Given the description of an element on the screen output the (x, y) to click on. 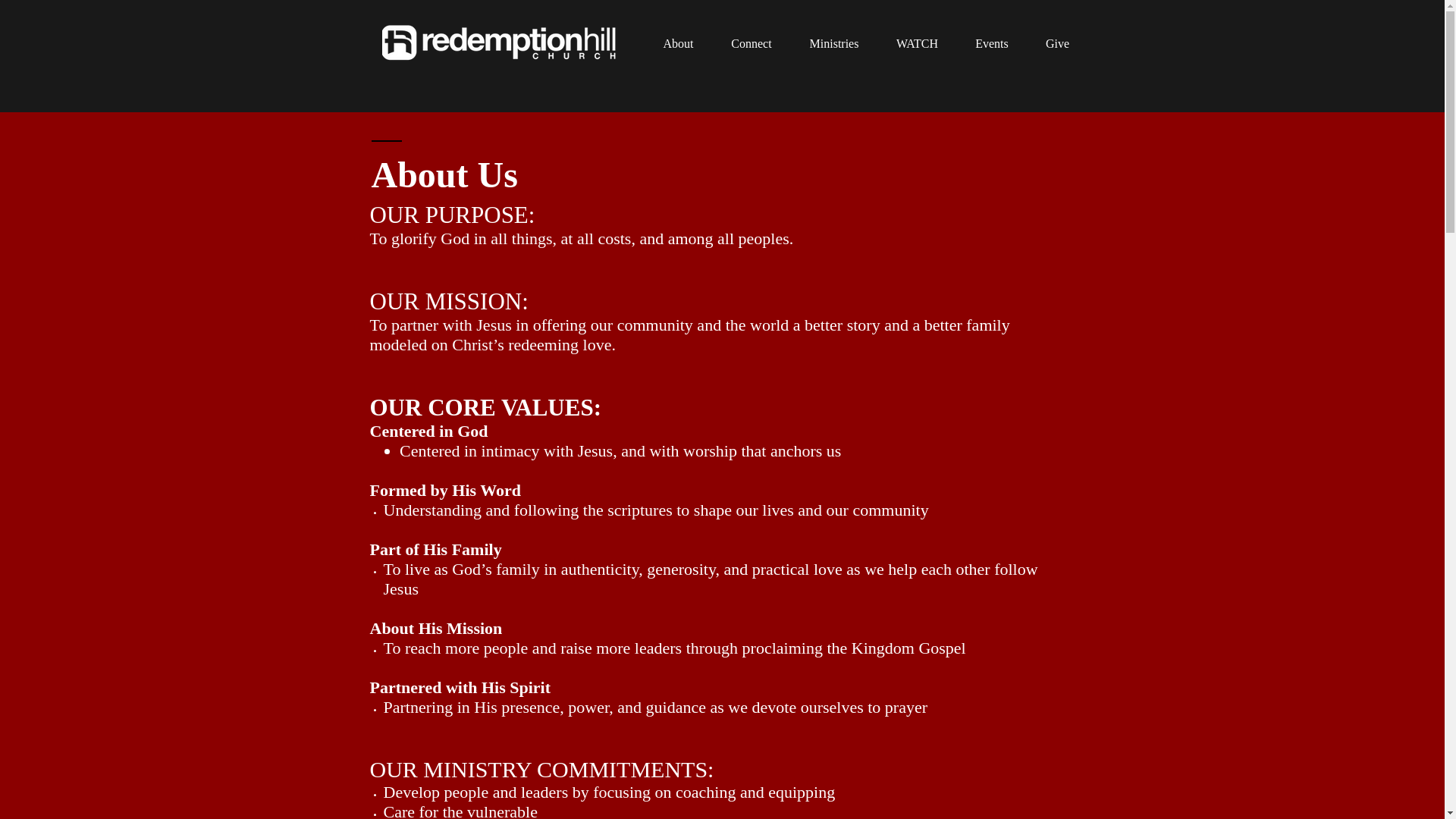
Events (991, 44)
